Given the description of an element on the screen output the (x, y) to click on. 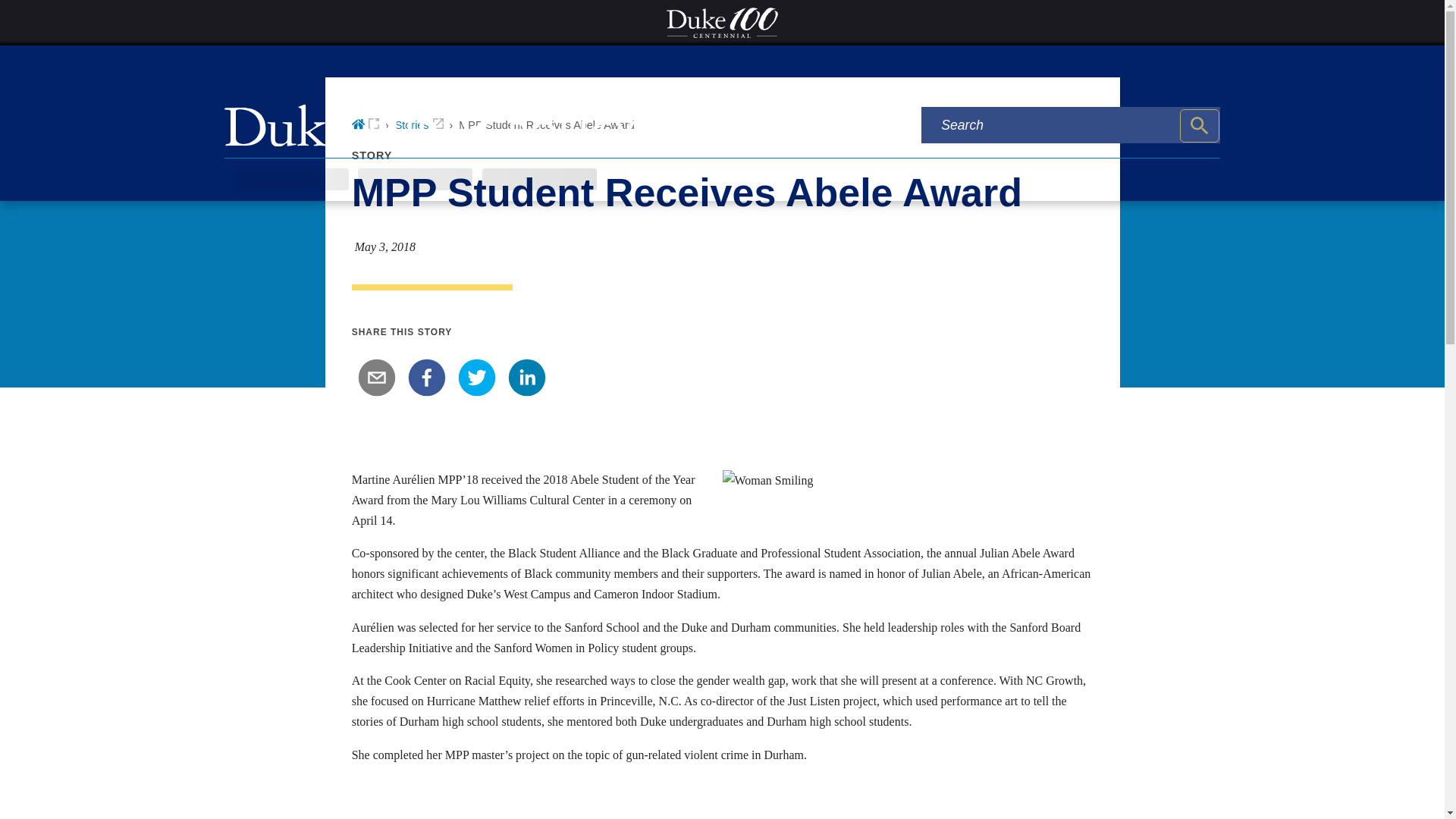
Home (365, 124)
Stories (419, 124)
